Given the description of an element on the screen output the (x, y) to click on. 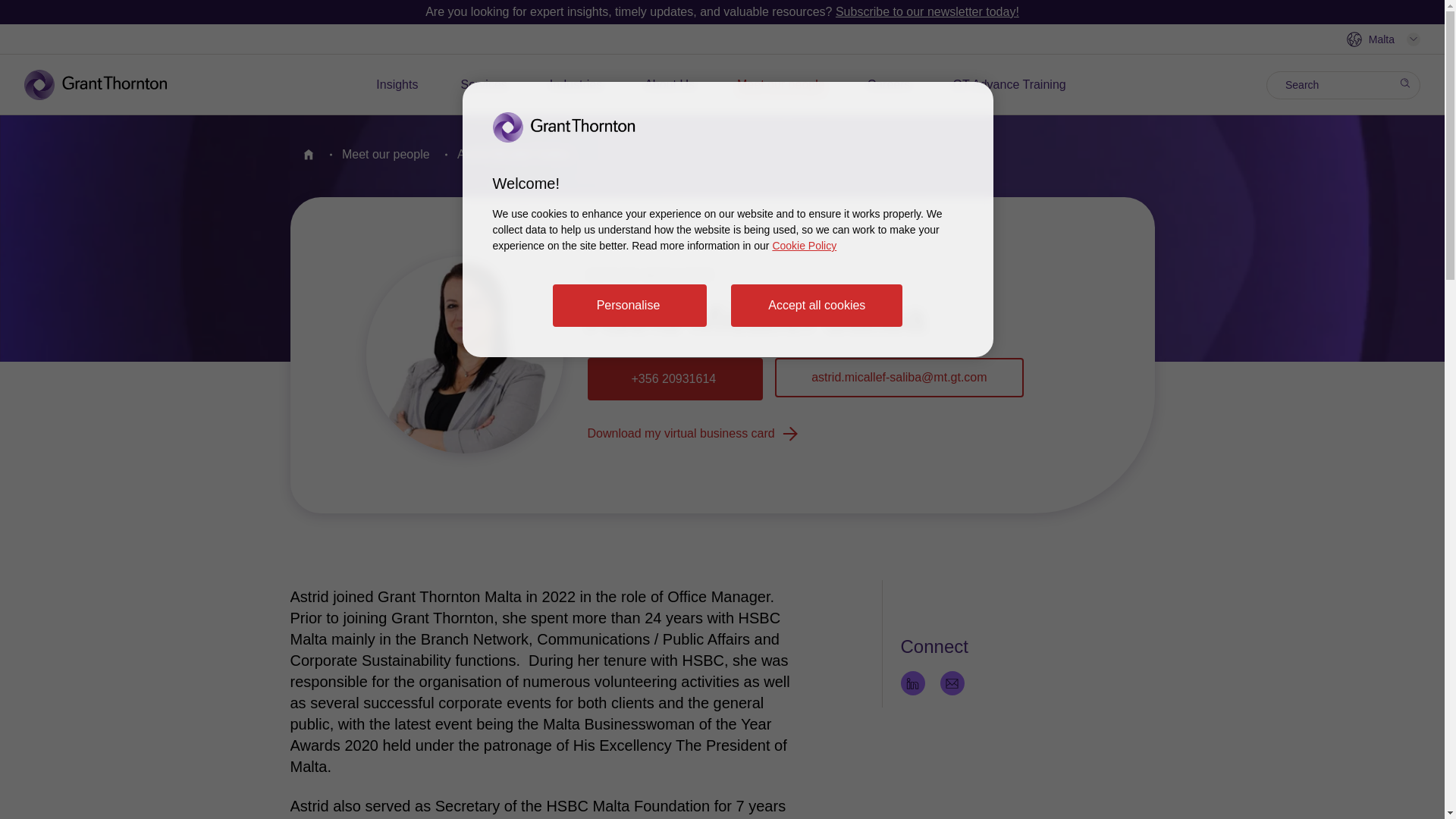
logo (105, 84)
Meet our people (780, 85)
Services (483, 85)
Subscribe to our newsletter today! (927, 11)
Malta (1383, 38)
About Us (669, 85)
Subscribe to our newsletter today! (927, 11)
Insights (396, 85)
Careers (889, 85)
Industries (576, 85)
